Given the description of an element on the screen output the (x, y) to click on. 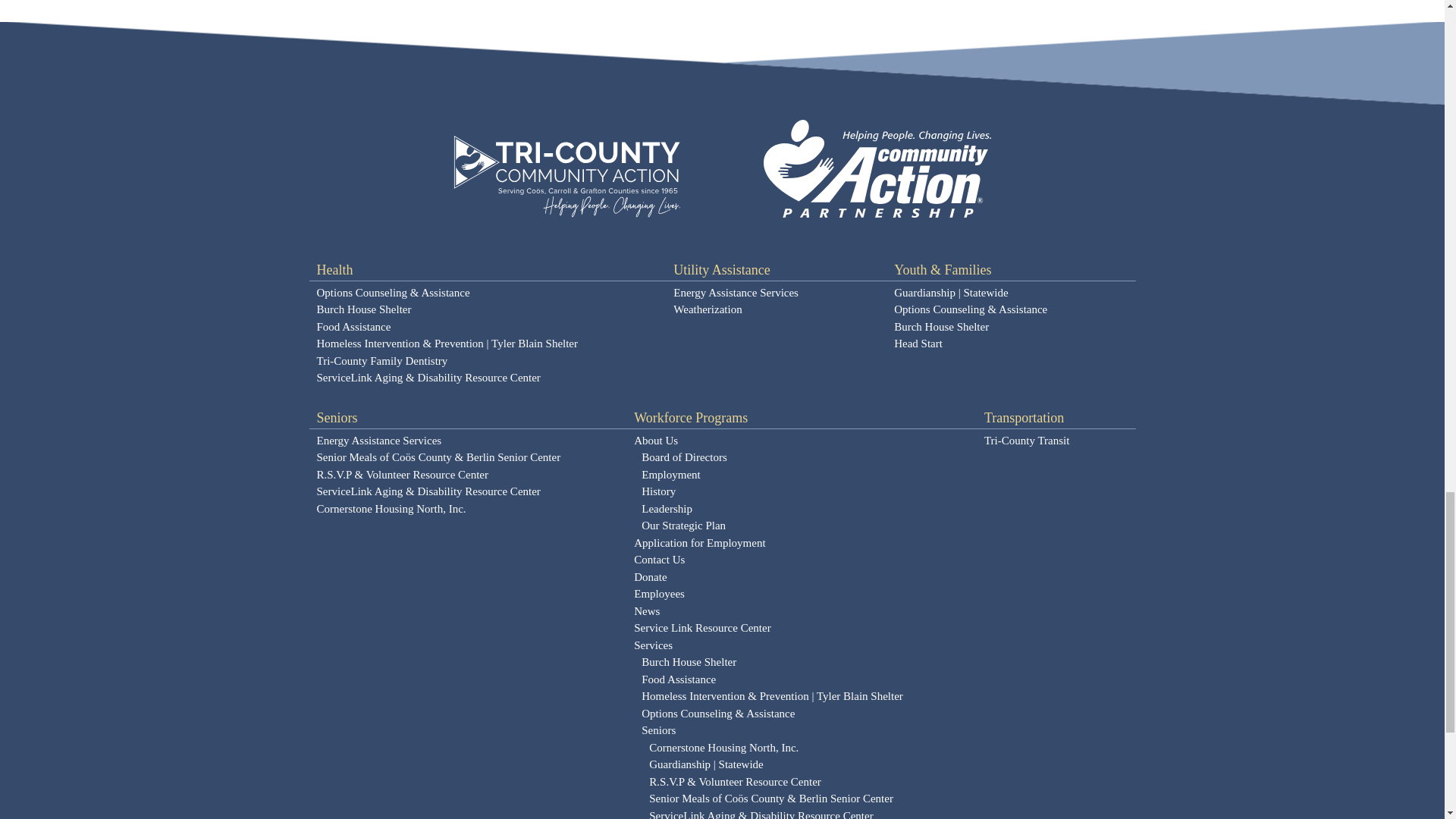
Food Assistance (488, 326)
Burch House Shelter (488, 310)
